Given the description of an element on the screen output the (x, y) to click on. 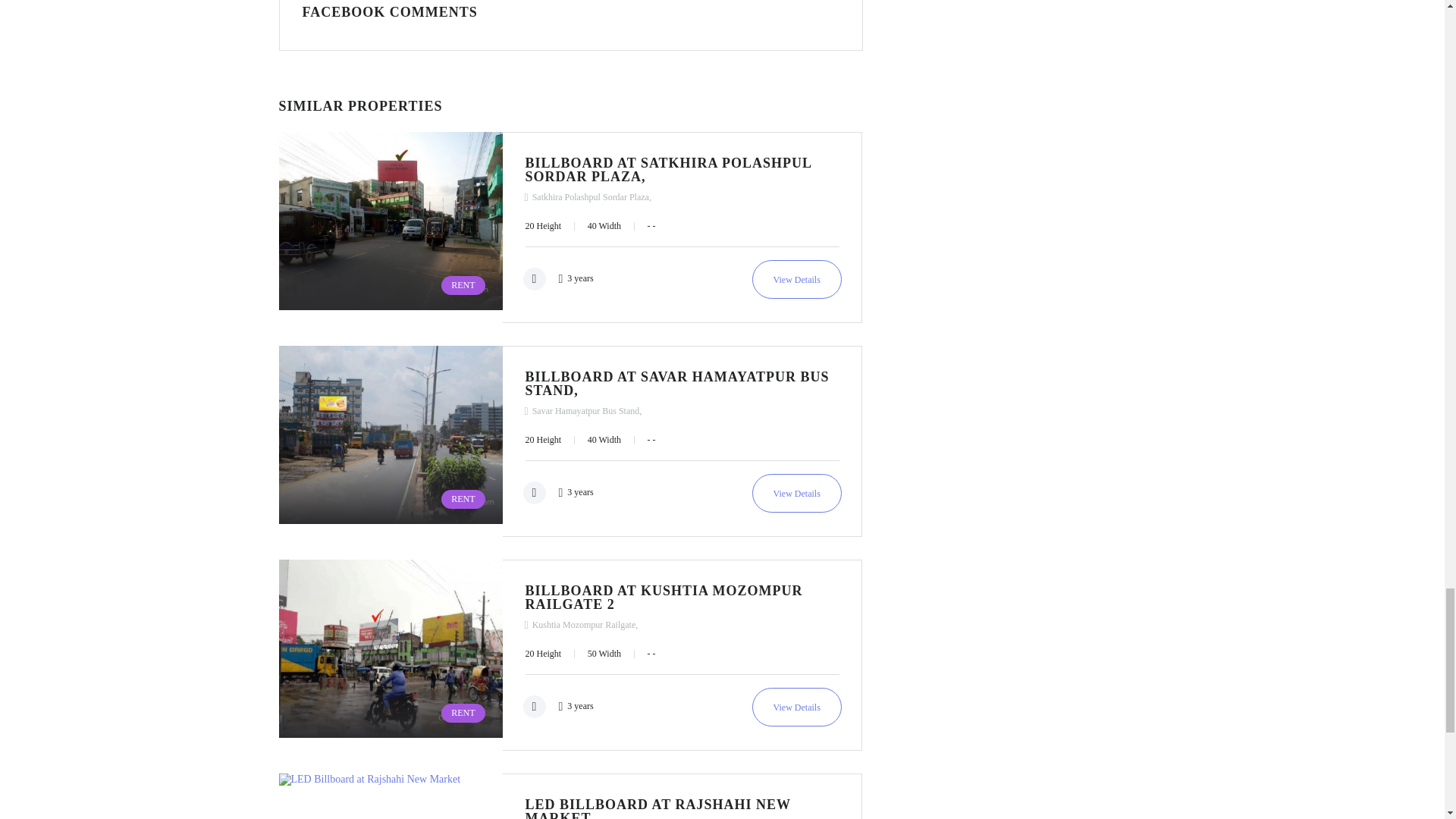
Billboard at  Kushtia Mozompur Railgate 2 (390, 655)
Billboard at  Satkhira Polashpul Sordar Plaza, (390, 226)
Billboard at Savar Hamayatpur Bus Stand, (390, 441)
Billboard at  Satkhira Polashpul Sordar Plaza, (796, 279)
Billboard at Savar Hamayatpur Bus Stand, (796, 493)
2021-08-04 14:51:52 (570, 491)
2021-08-04 13:56:09 (570, 277)
